Given the description of an element on the screen output the (x, y) to click on. 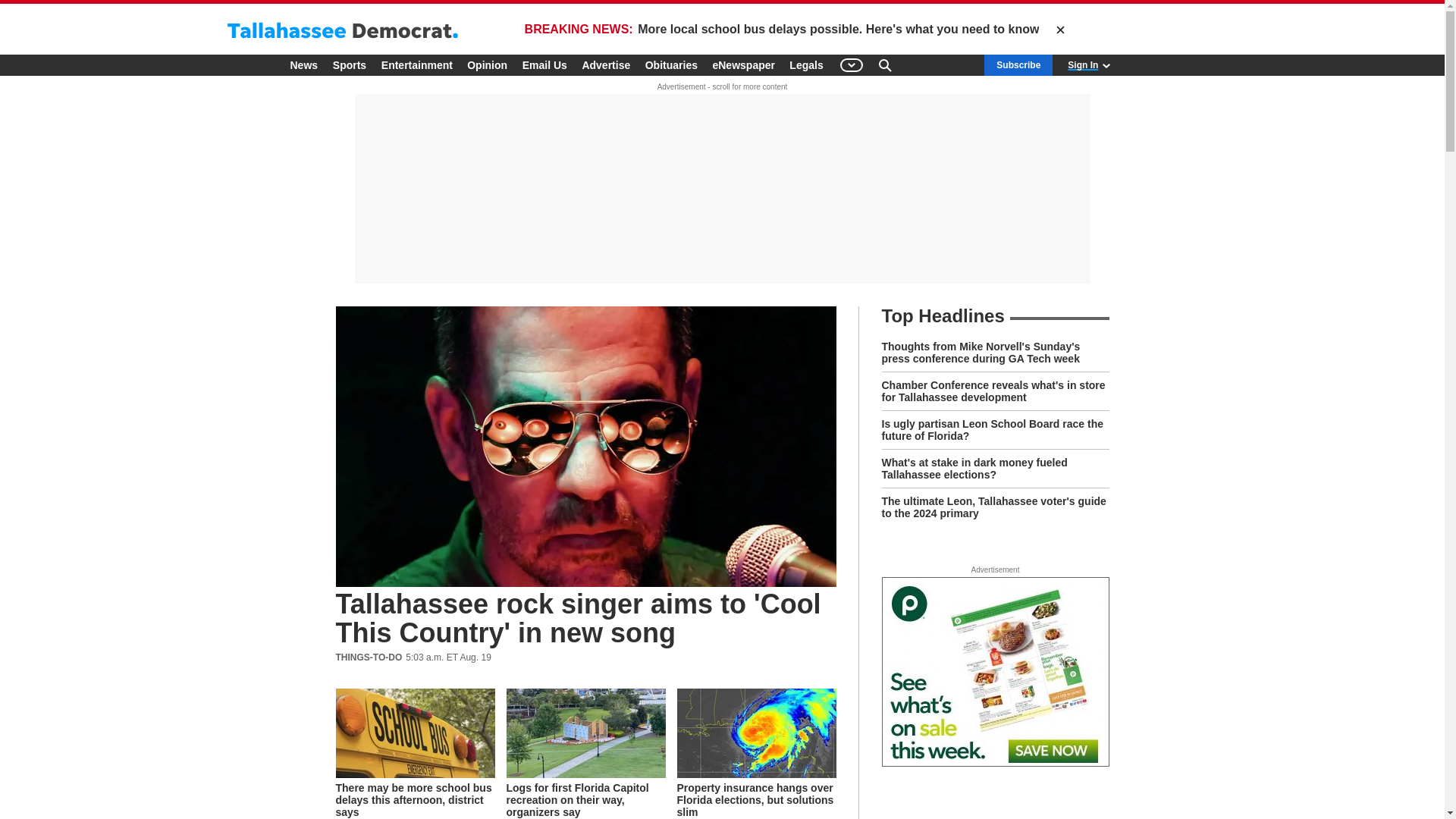
Advertise (605, 65)
Obituaries (670, 65)
Search (885, 65)
Sports (349, 65)
News (303, 65)
eNewspaper (742, 65)
Opinion (486, 65)
Email Us (545, 65)
